Given the description of an element on the screen output the (x, y) to click on. 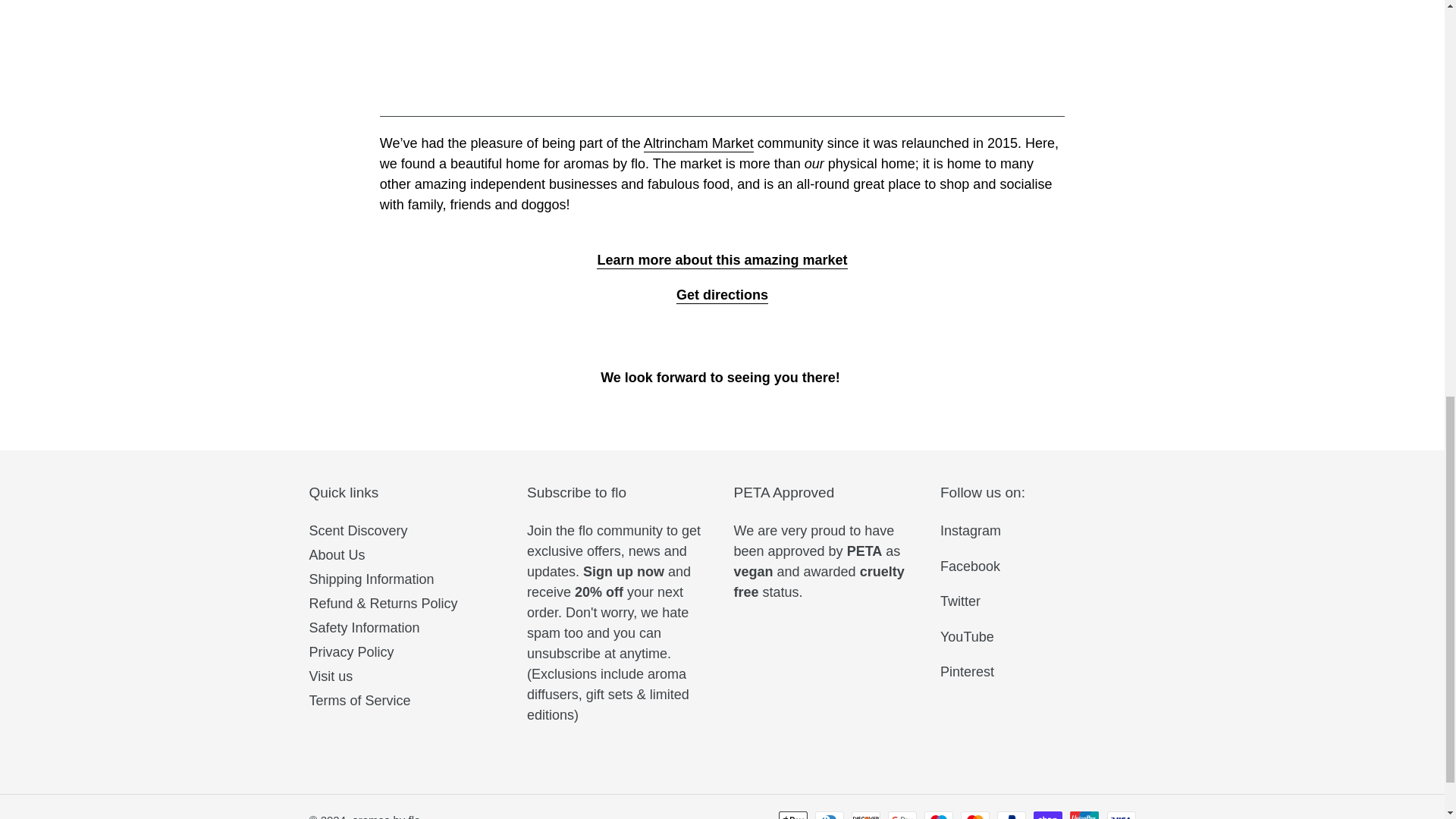
find aromas by flo at altrincham market (722, 295)
PETA (864, 550)
altrincham (722, 108)
subscribe (623, 571)
altrincham market (698, 143)
